Given the description of an element on the screen output the (x, y) to click on. 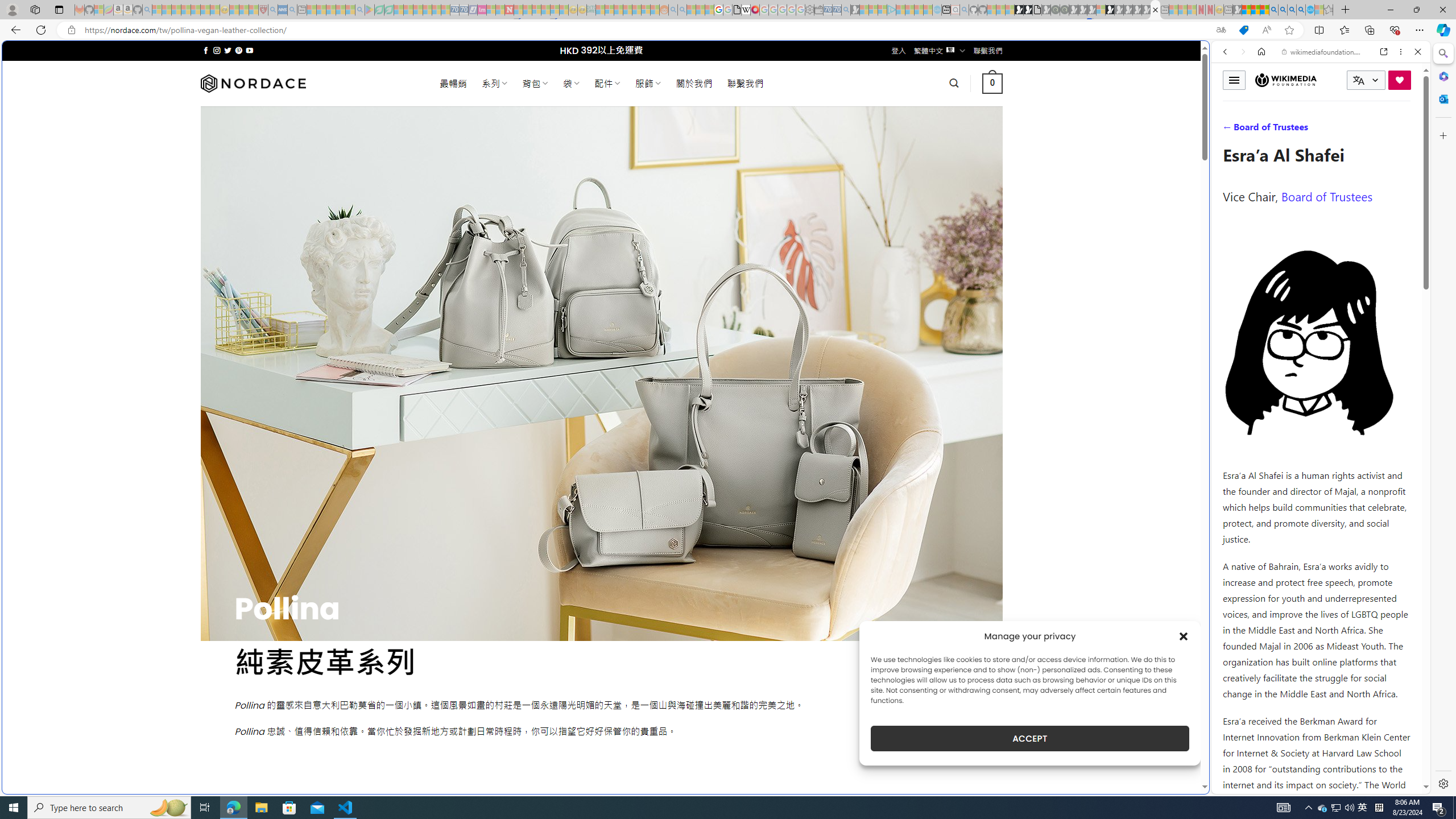
ACCEPT (1029, 738)
Toggle menu (1233, 80)
